Given the description of an element on the screen output the (x, y) to click on. 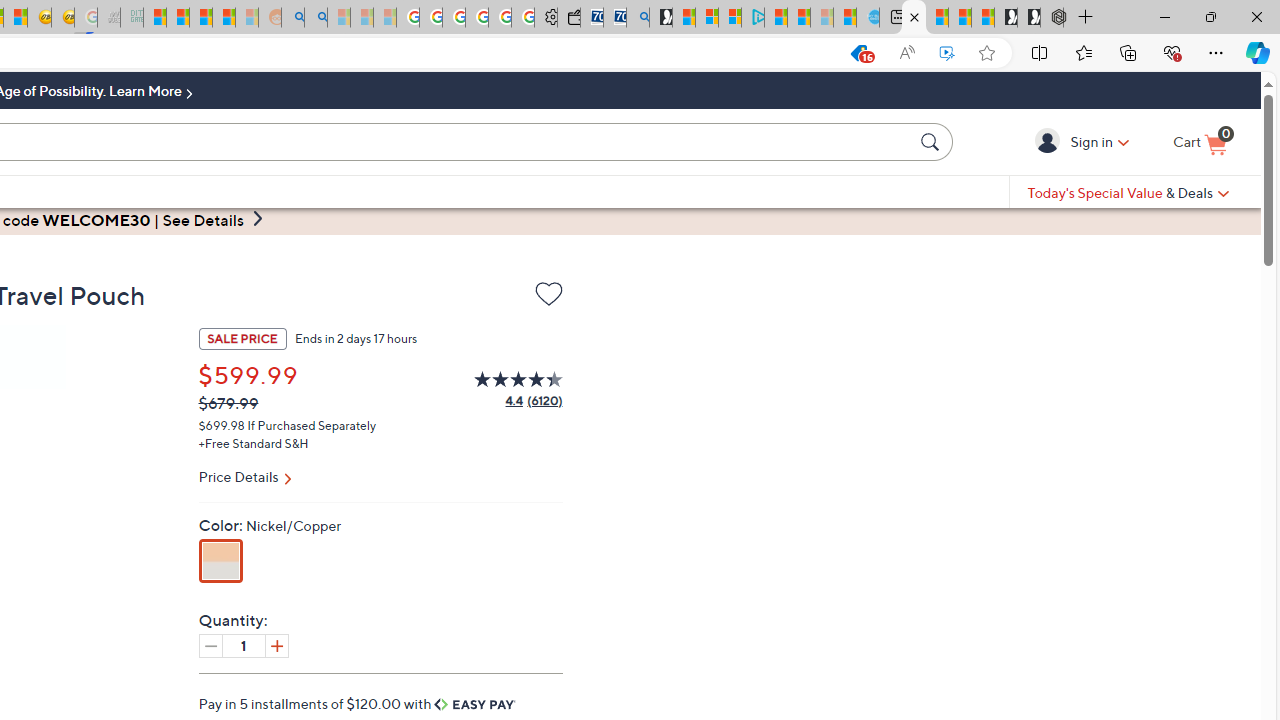
Add to Wish List (548, 294)
Quantity (243, 645)
Today's Special Value & Deals (1128, 192)
Decrease quantity by 1 (210, 645)
